Given the description of an element on the screen output the (x, y) to click on. 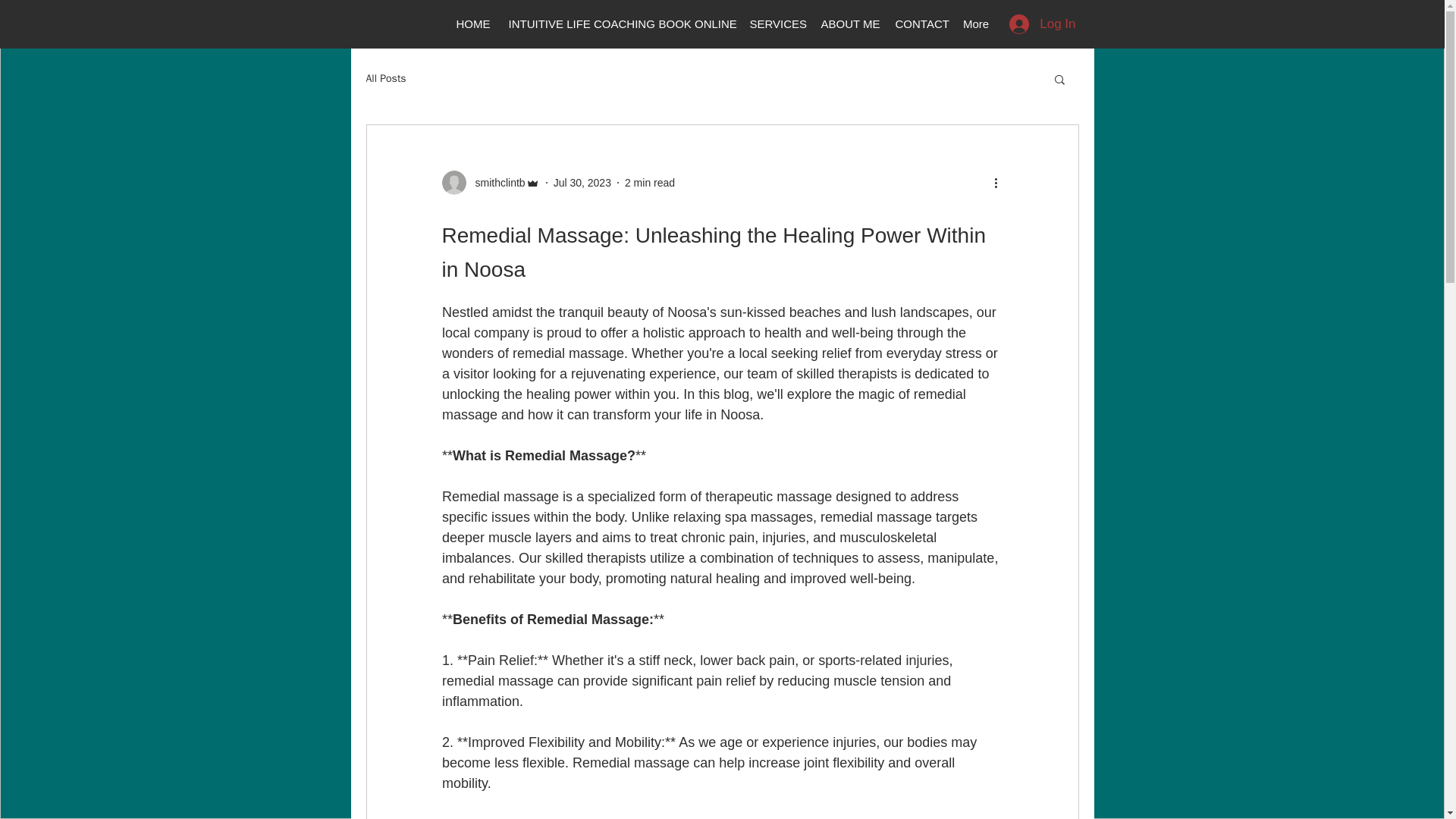
ABOUT ME (847, 24)
smithclintb (489, 182)
All Posts (385, 78)
2 min read (649, 182)
SERVICES (774, 24)
BOOK ONLINE (694, 24)
Jul 30, 2023 (582, 182)
CONTACT (918, 24)
HOME (471, 24)
Log In (1042, 23)
